Given the description of an element on the screen output the (x, y) to click on. 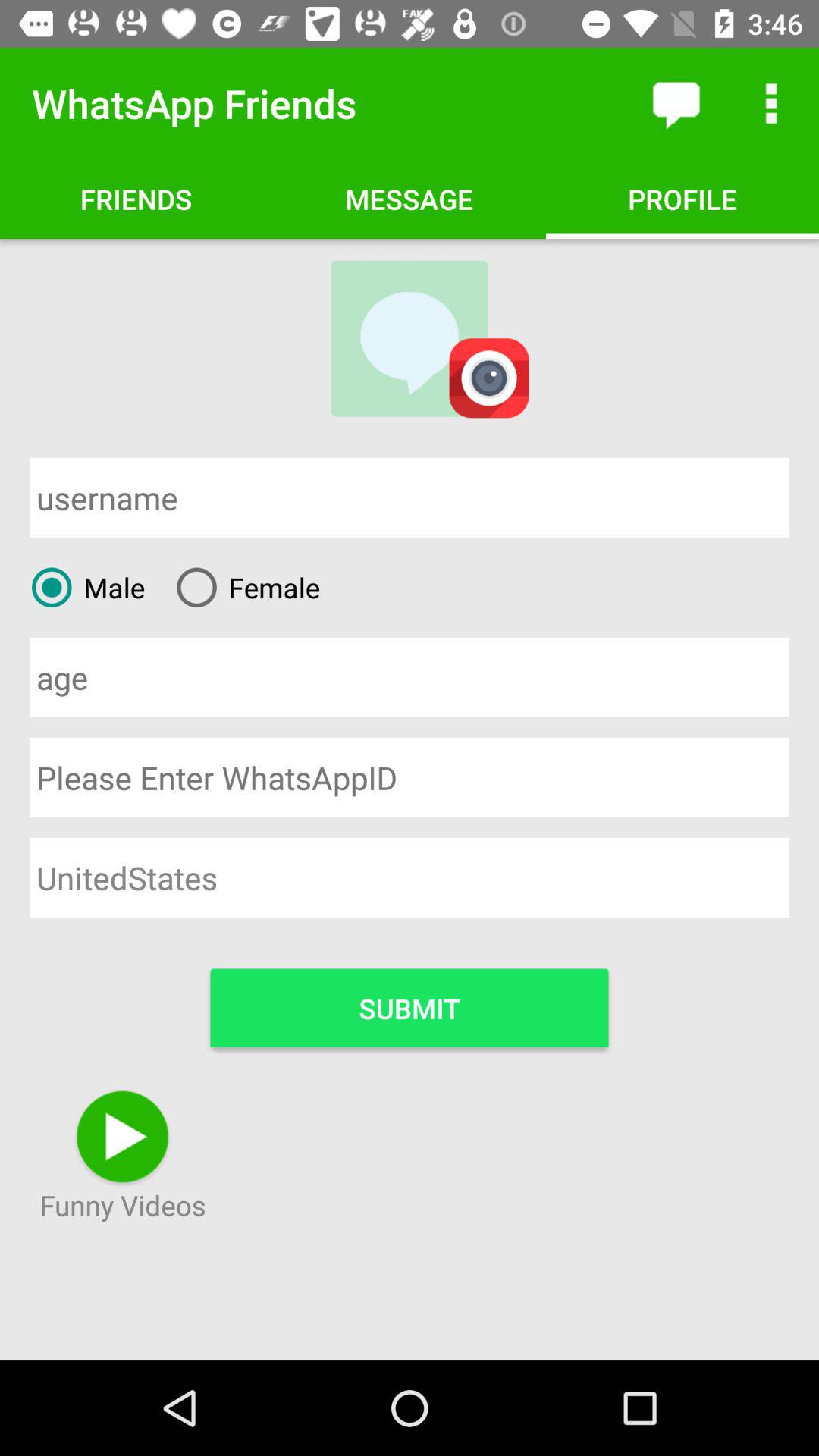
enter whatsapp username (409, 777)
